Given the description of an element on the screen output the (x, y) to click on. 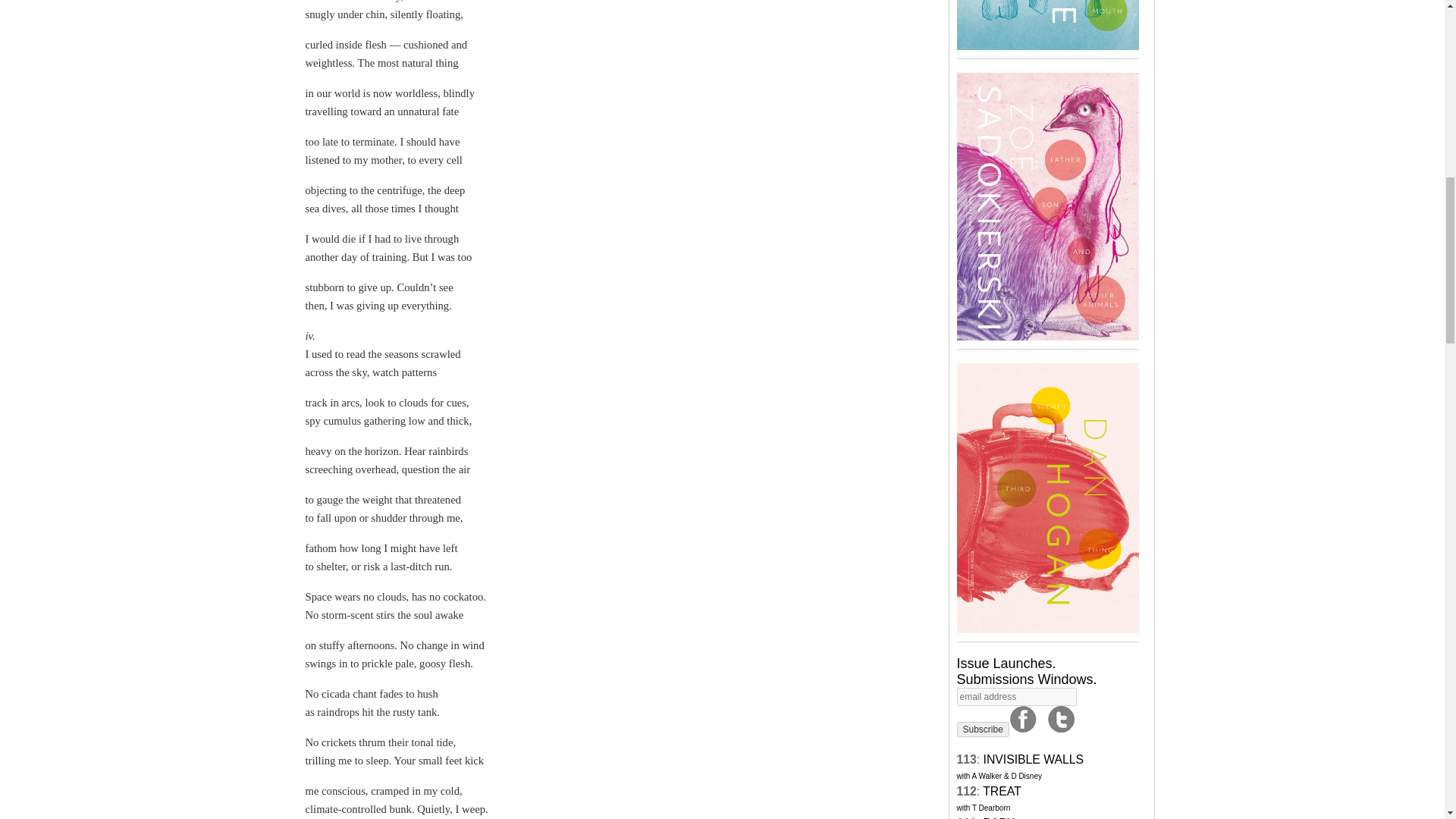
Subscribe (1047, 678)
INVISIBLE WALLS (982, 729)
Subscribe (1033, 758)
